Given the description of an element on the screen output the (x, y) to click on. 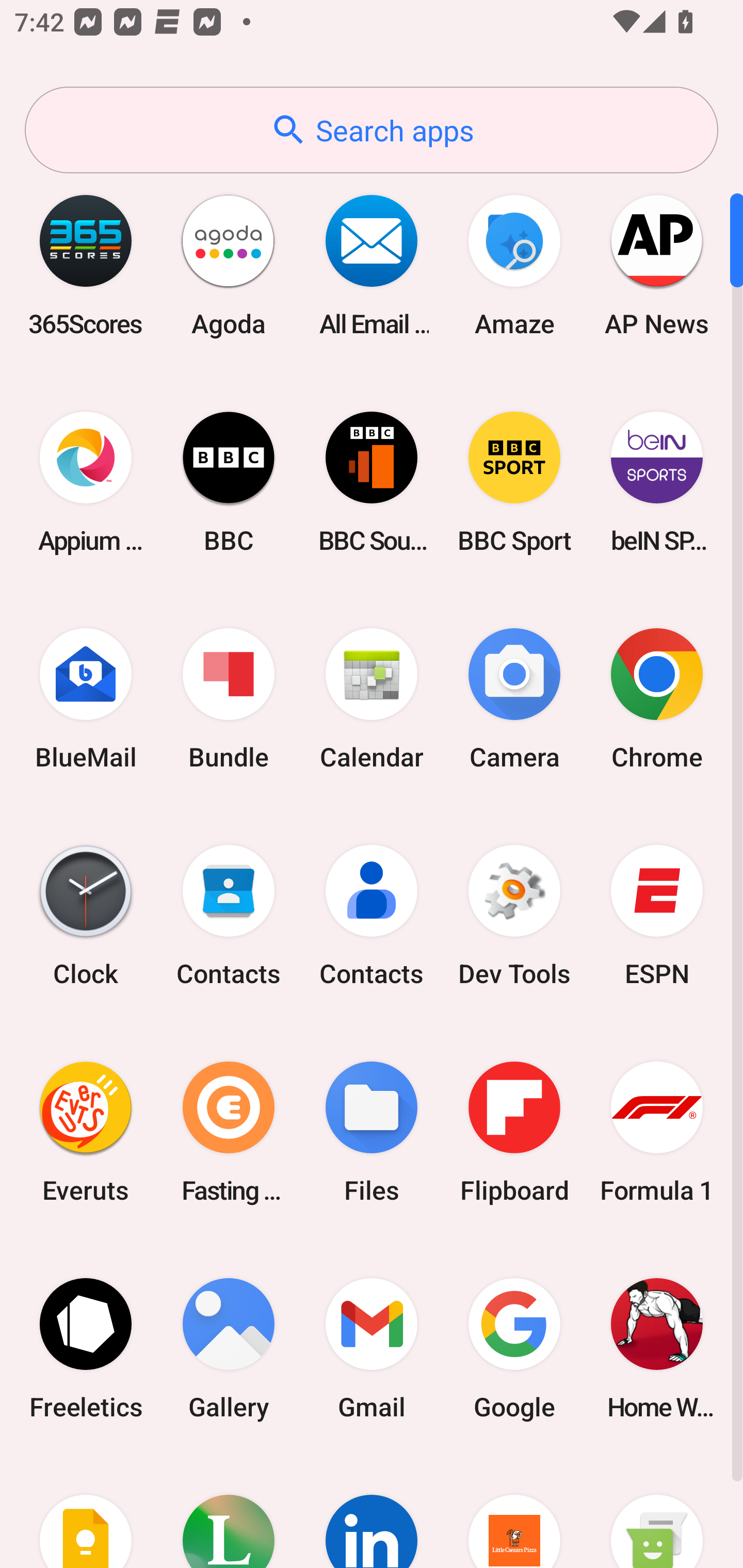
  Search apps (371, 130)
365Scores (85, 264)
Agoda (228, 264)
All Email Connect (371, 264)
Amaze (514, 264)
AP News (656, 264)
Appium Settings (85, 482)
BBC (228, 482)
BBC Sounds (371, 482)
BBC Sport (514, 482)
beIN SPORTS (656, 482)
BlueMail (85, 699)
Bundle (228, 699)
Calendar (371, 699)
Camera (514, 699)
Chrome (656, 699)
Clock (85, 915)
Contacts (228, 915)
Contacts (371, 915)
Dev Tools (514, 915)
ESPN (656, 915)
Everuts (85, 1131)
Fasting Coach (228, 1131)
Files (371, 1131)
Flipboard (514, 1131)
Formula 1 (656, 1131)
Freeletics (85, 1348)
Gallery (228, 1348)
Gmail (371, 1348)
Google (514, 1348)
Home Workout (656, 1348)
Keep Notes (85, 1512)
Lifesum (228, 1512)
LinkedIn (371, 1512)
Little Caesars Pizza (514, 1512)
Messaging (656, 1512)
